Given the description of an element on the screen output the (x, y) to click on. 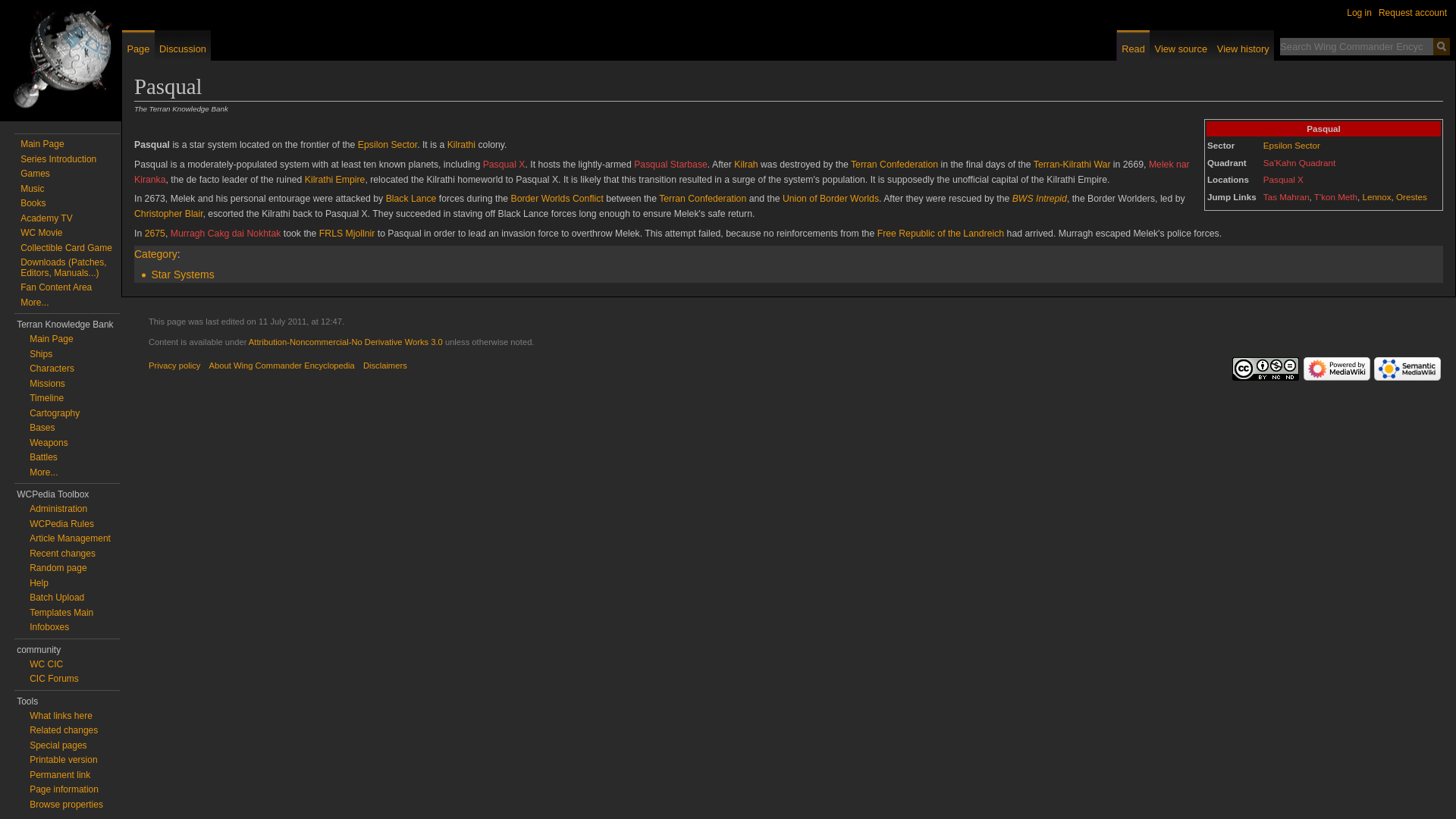
Page (138, 45)
Lennox (1375, 196)
Star Systems (182, 274)
Terran-Kilrathi War (1071, 163)
Kilrah (745, 163)
Request account (1412, 12)
Read (1133, 45)
Lennox (1375, 196)
Terran-Kilrathi War (1071, 163)
Kilrathi Empire (334, 179)
FRLS Mjollnir (346, 233)
Log in (1358, 12)
Kilrah (745, 163)
Terran Confederation (893, 163)
Search (1441, 45)
